Given the description of an element on the screen output the (x, y) to click on. 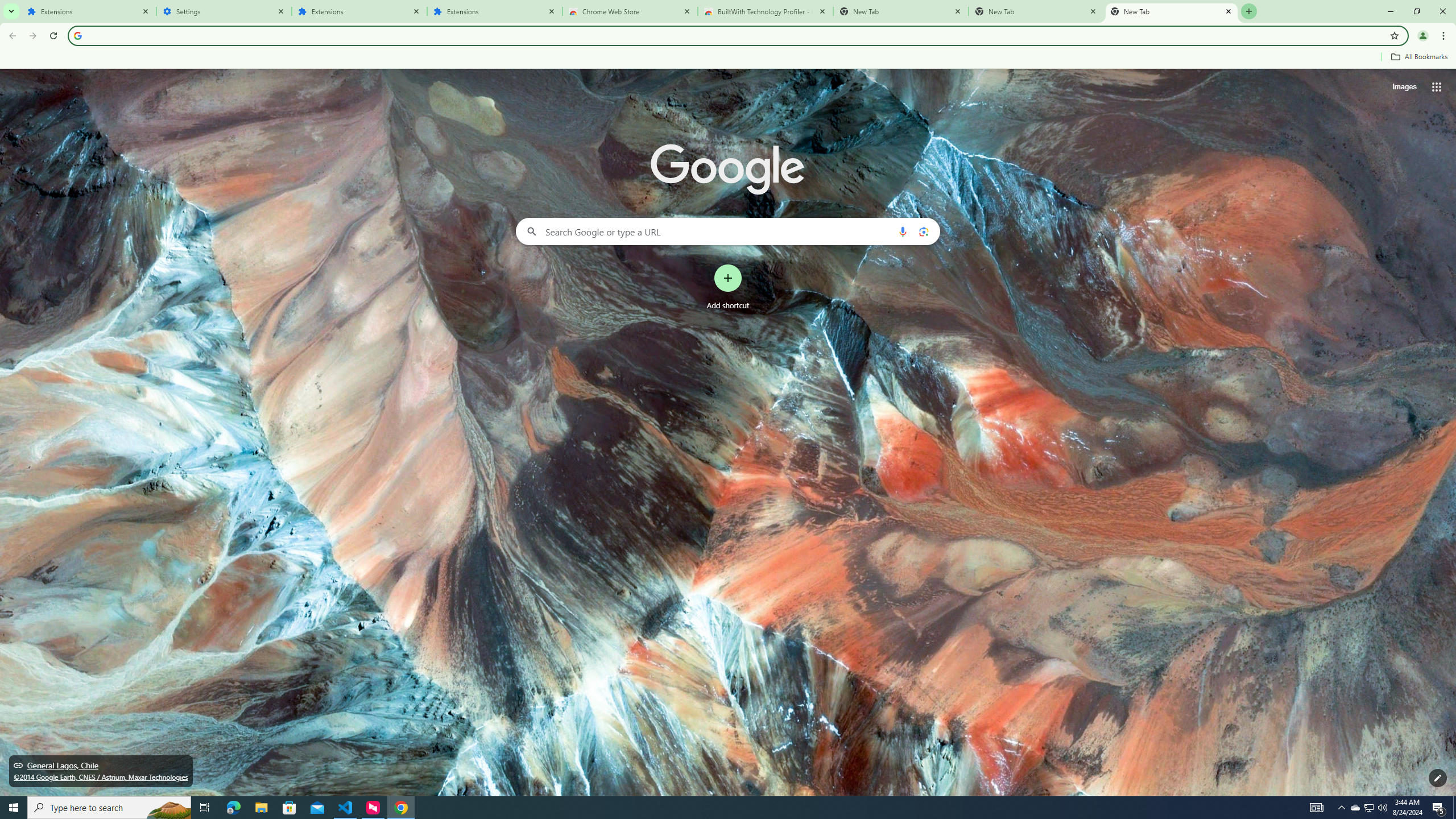
Extensions (494, 11)
BuiltWith Technology Profiler - Chrome Web Store (765, 11)
Search by image (922, 230)
Extensions (88, 11)
Add shortcut (727, 287)
Settings (224, 11)
Customize this page (1437, 778)
Search icon (77, 35)
New Tab (1171, 11)
Bookmarks (728, 58)
